Given the description of an element on the screen output the (x, y) to click on. 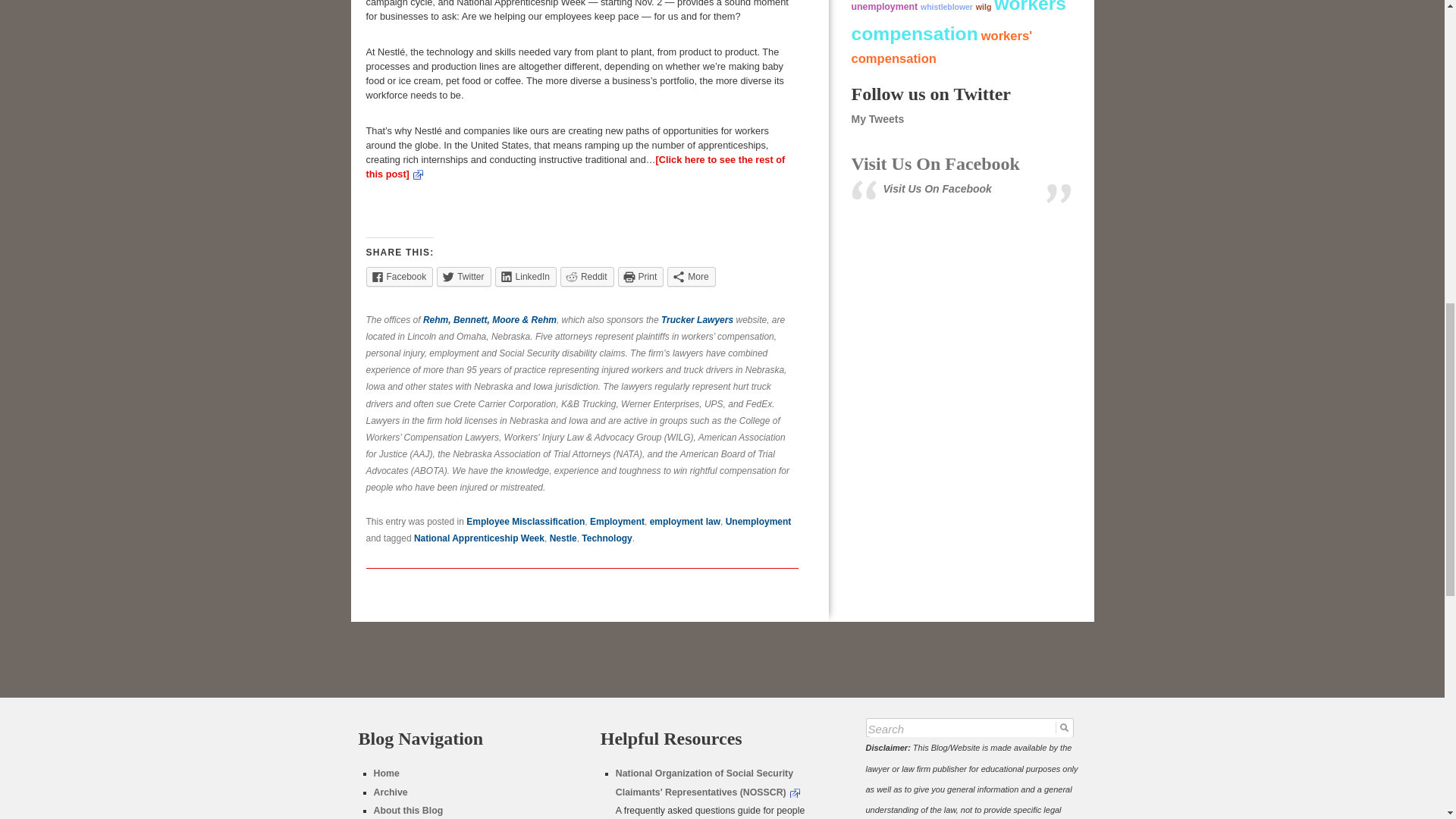
employment law (684, 521)
Technology (605, 538)
Print (640, 276)
Click to share on Twitter (463, 276)
Twitter (463, 276)
Employment (617, 521)
More (690, 276)
Nestle (563, 538)
Trucker Lawyers (697, 319)
Search (969, 729)
Click to share on Reddit (587, 276)
Unemployment (758, 521)
Facebook (398, 276)
National Apprenticeship Week (478, 538)
Click to share on Facebook (398, 276)
